Given the description of an element on the screen output the (x, y) to click on. 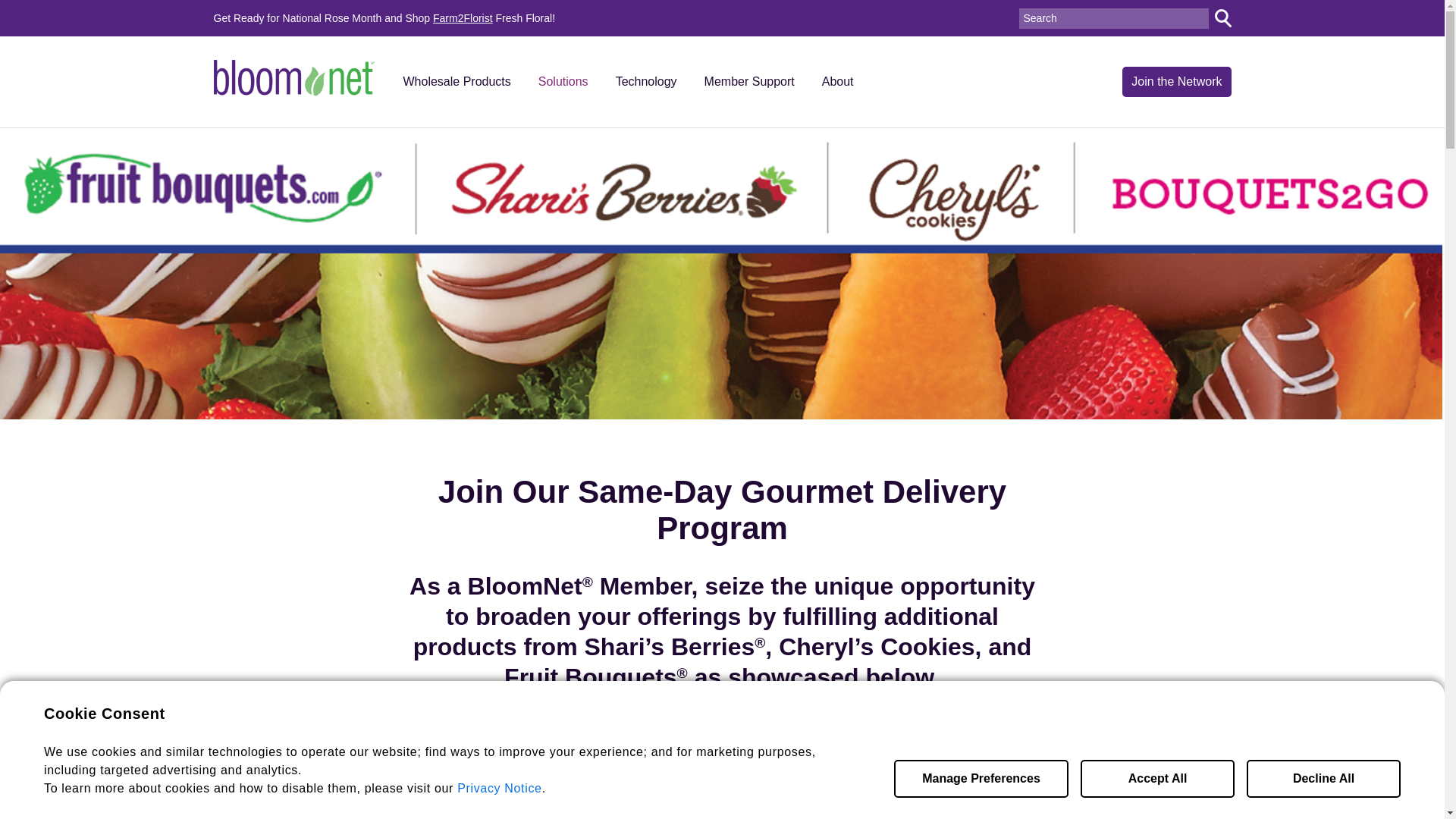
BloomNet Home (294, 77)
Farm2Florist (462, 18)
Solutions (563, 81)
Member Support (749, 81)
Go (1222, 18)
About (837, 81)
Wholesale Products (457, 81)
Go (1222, 18)
Technology (646, 81)
